Given the description of an element on the screen output the (x, y) to click on. 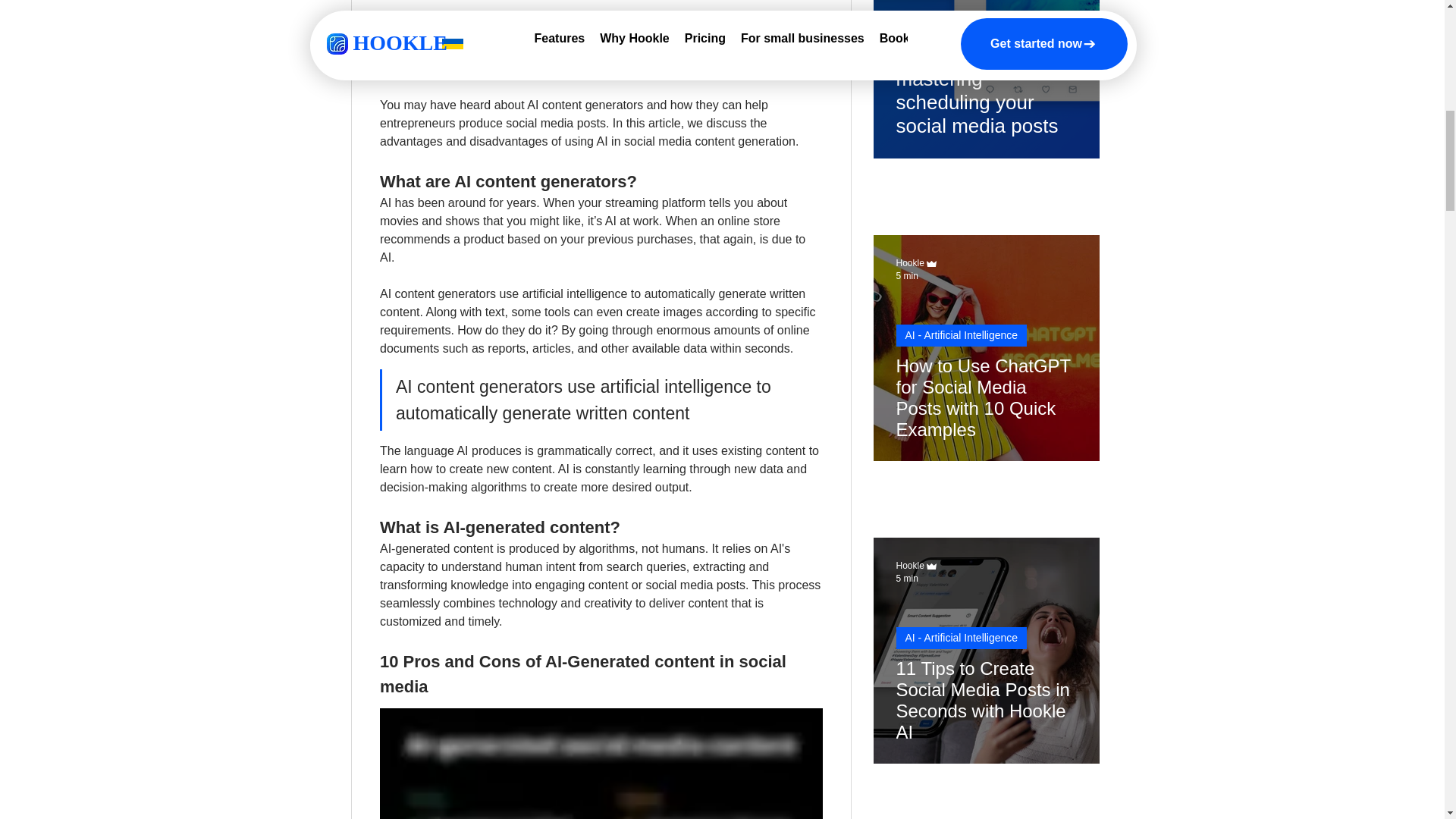
Hookle (910, 565)
5 min (907, 275)
Hookle (910, 262)
5 min (907, 578)
